Given the description of an element on the screen output the (x, y) to click on. 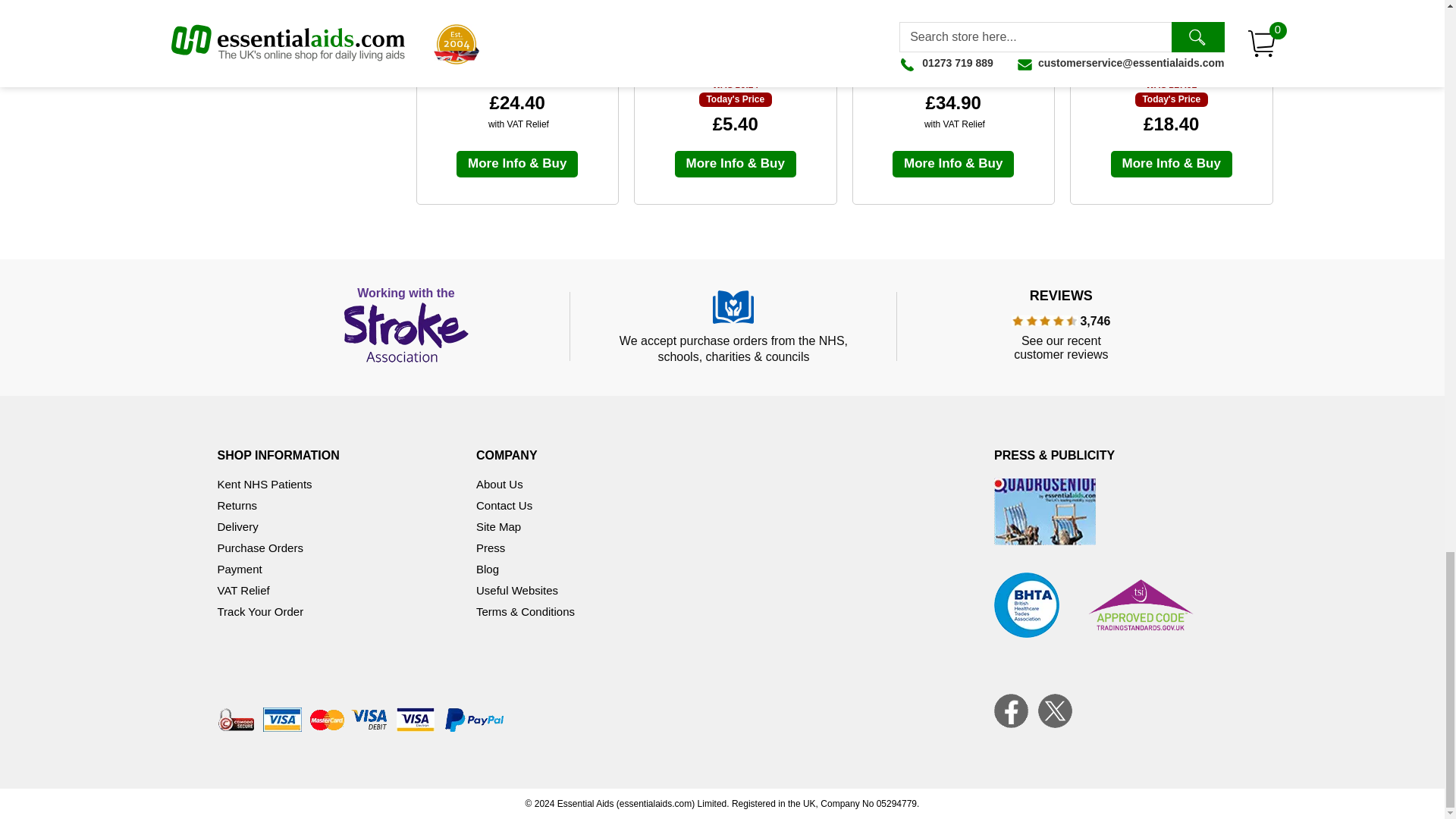
Purchase Orders (259, 547)
Kent NHS Patients (263, 483)
Stroke Association (406, 326)
Returns (236, 504)
Delivery (236, 526)
Payment (239, 568)
